Given the description of an element on the screen output the (x, y) to click on. 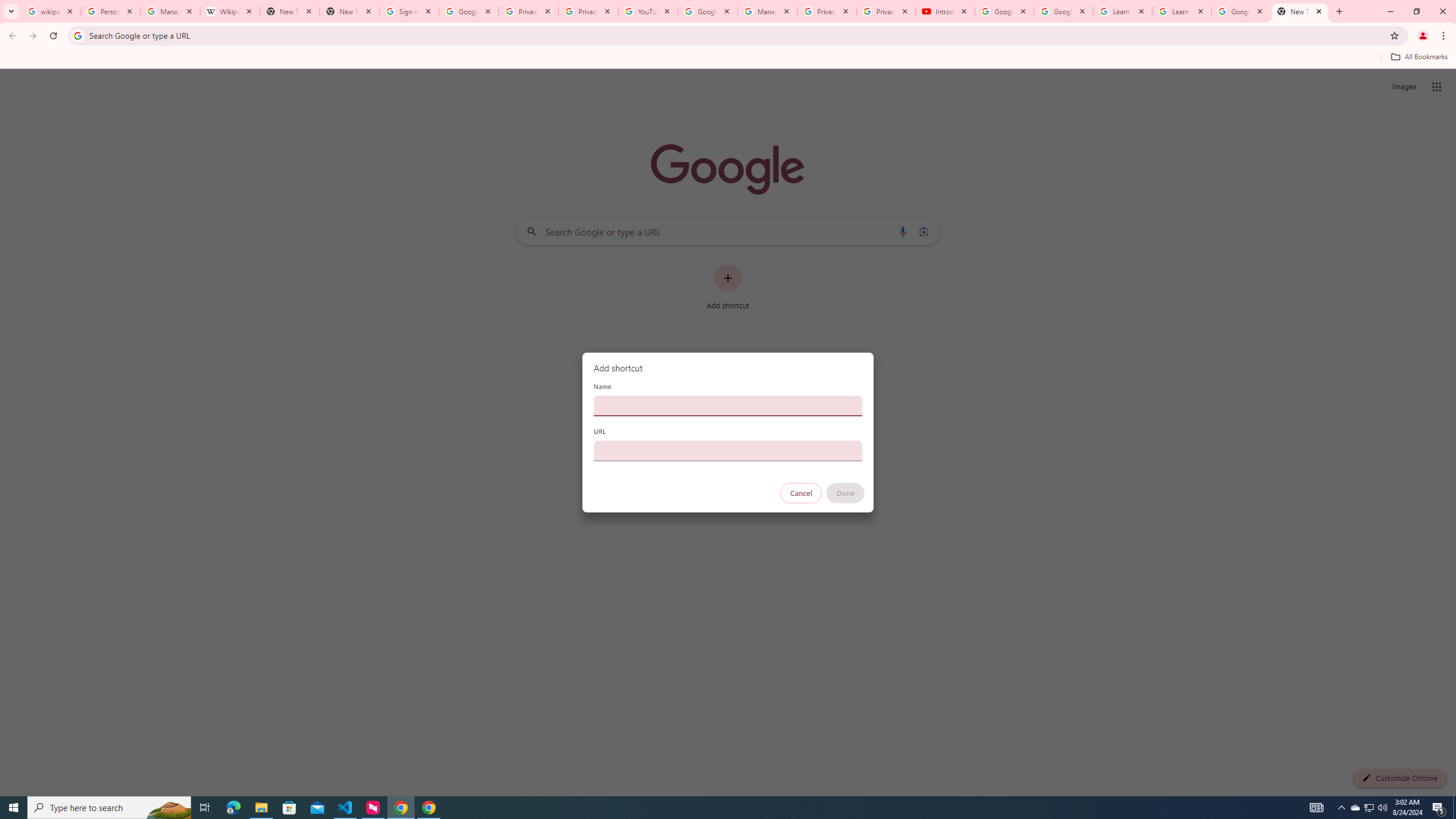
Google Drive: Sign-in (468, 11)
New Tab (1300, 11)
Bookmarks (728, 58)
Google Account Help (707, 11)
